Given the description of an element on the screen output the (x, y) to click on. 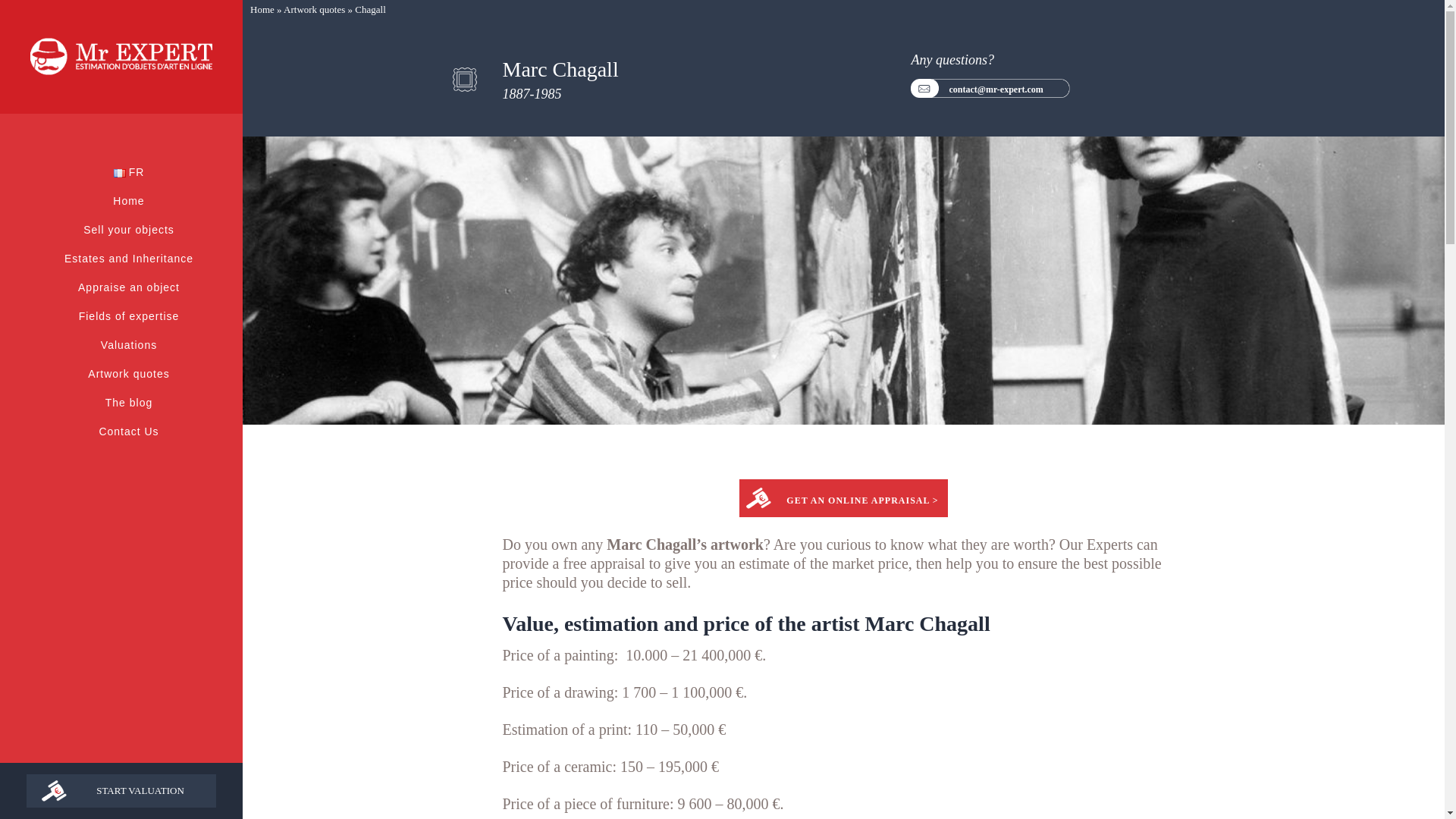
Home (262, 9)
Contact Us (128, 430)
painting (589, 655)
Artwork quotes (128, 373)
Appraise an object (128, 287)
Fields of expertise (128, 316)
Home page (121, 57)
Sell your objects (128, 229)
ceramic (587, 766)
Artwork quotes (314, 9)
print (612, 729)
Mr Expert (121, 57)
The blog (128, 402)
Valuations (128, 344)
Estates and Inheritance (128, 258)
